Given the description of an element on the screen output the (x, y) to click on. 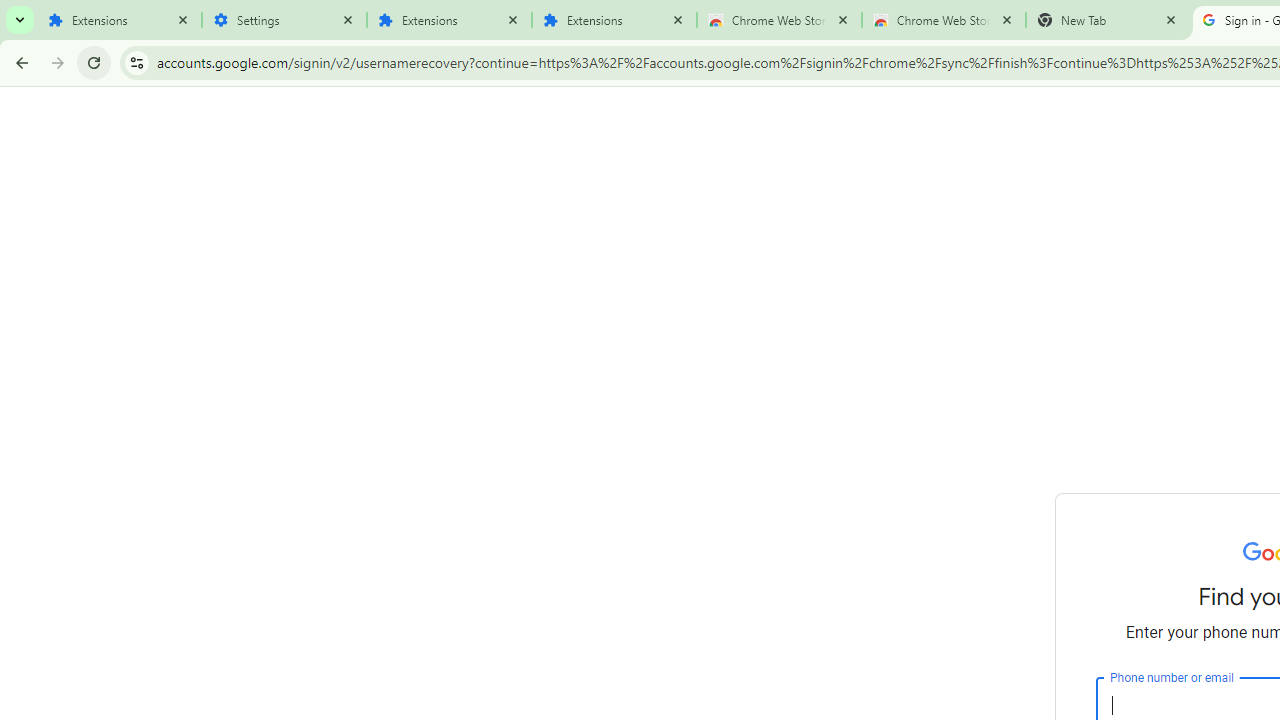
Extensions (449, 20)
Settings (284, 20)
Extensions (119, 20)
Chrome Web Store - Themes (943, 20)
Extensions (614, 20)
New Tab (1108, 20)
Chrome Web Store (779, 20)
